Given the description of an element on the screen output the (x, y) to click on. 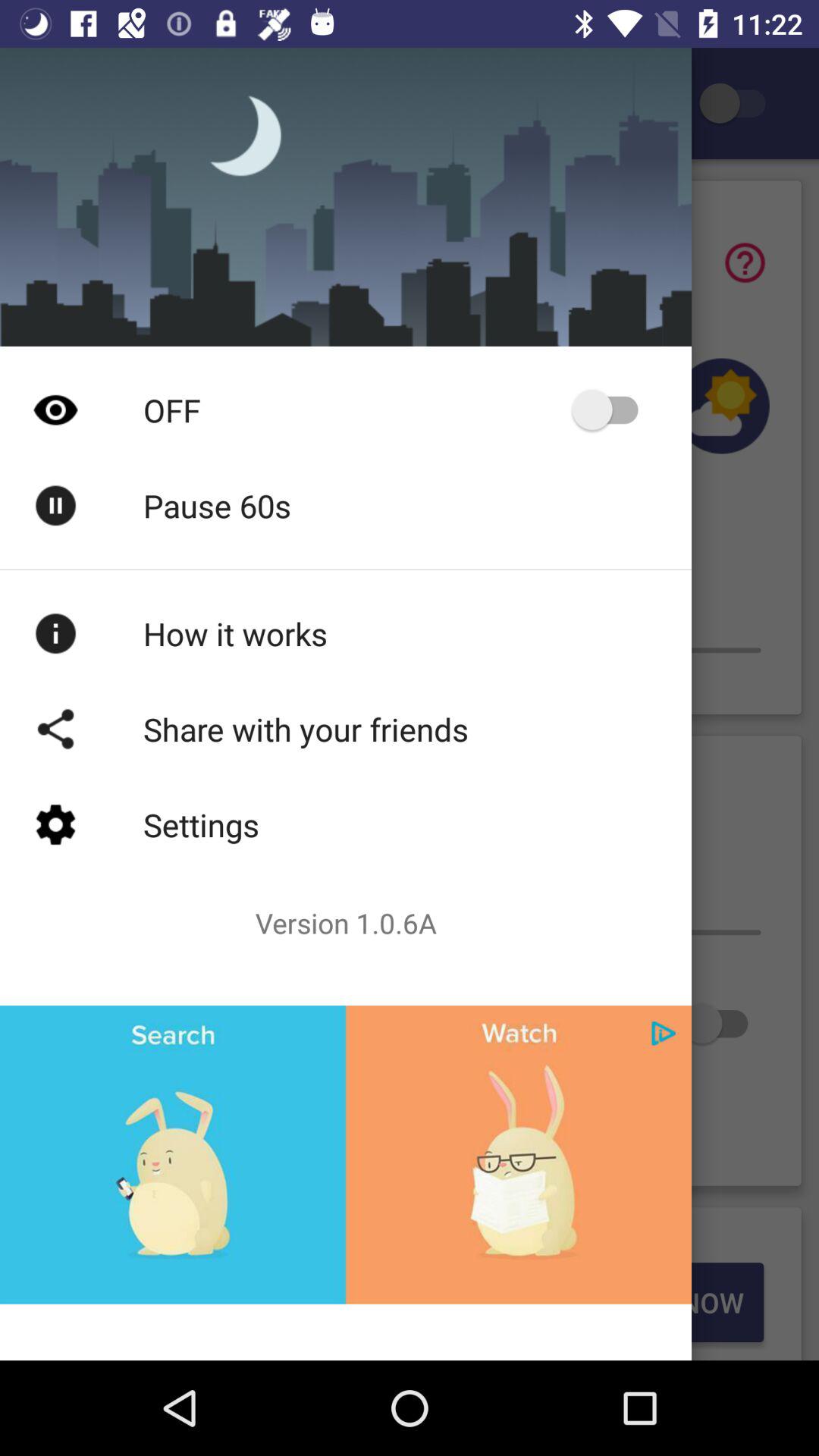
toggle switch (722, 1023)
